Given the description of an element on the screen output the (x, y) to click on. 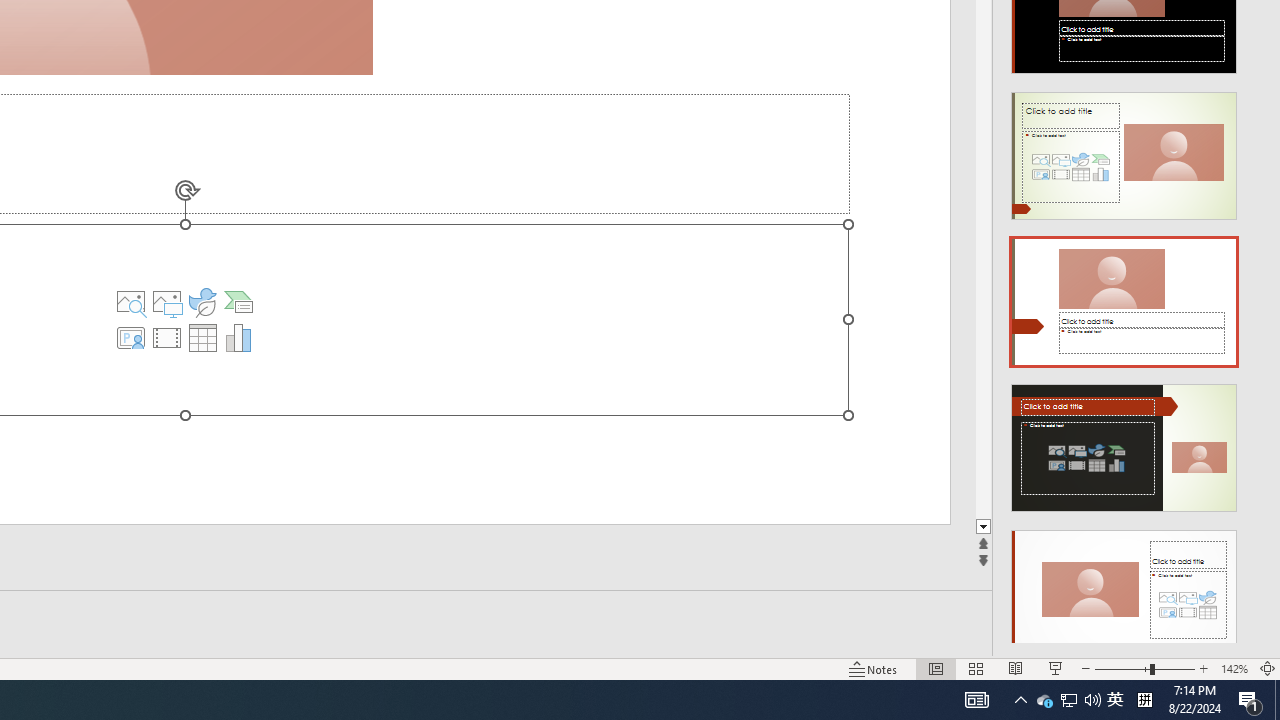
Class: NetUIImage (1124, 593)
Zoom 142% (1234, 668)
Slide Show (1055, 668)
Design Idea (1124, 587)
Insert an Icon (202, 301)
Normal (936, 668)
Zoom In (1204, 668)
Insert Chart (238, 337)
Reading View (1015, 668)
Insert Cameo (131, 337)
Line down (1271, 527)
Zoom (1144, 668)
Zoom to Fit  (1267, 668)
Pictures (167, 301)
Zoom Out (1121, 668)
